Given the description of an element on the screen output the (x, y) to click on. 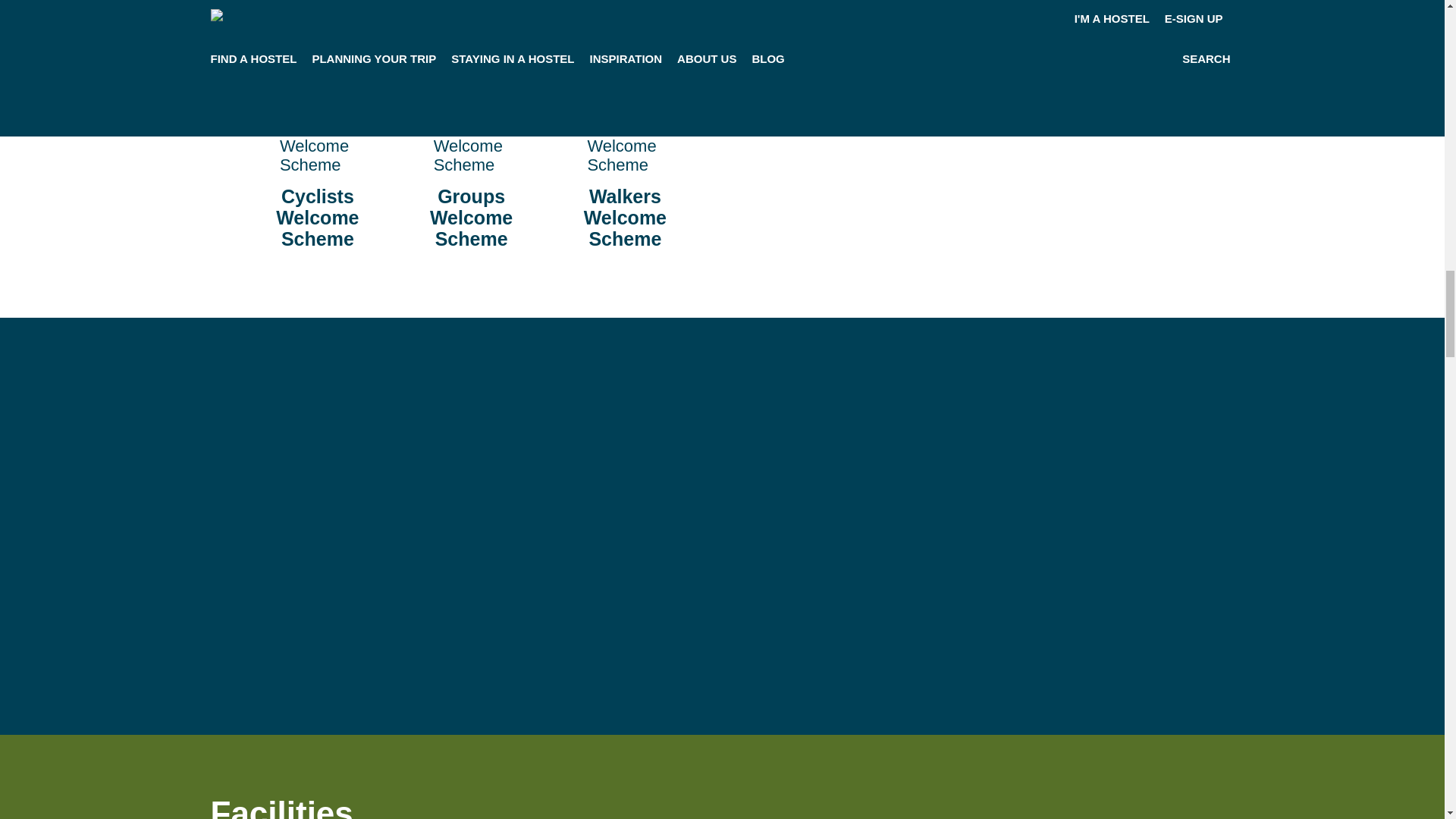
Children Welcome Scheme  (624, 8)
Classic Cars Welcome Scheme  (778, 13)
Groups Welcome Scheme  (471, 145)
Cyclists Welcome Scheme  (317, 145)
Bikers Welcome Scheme  (471, 8)
4 star VisitScotland Hostel Rating (317, 18)
Walkers Welcome Scheme  (624, 145)
